Given the description of an element on the screen output the (x, y) to click on. 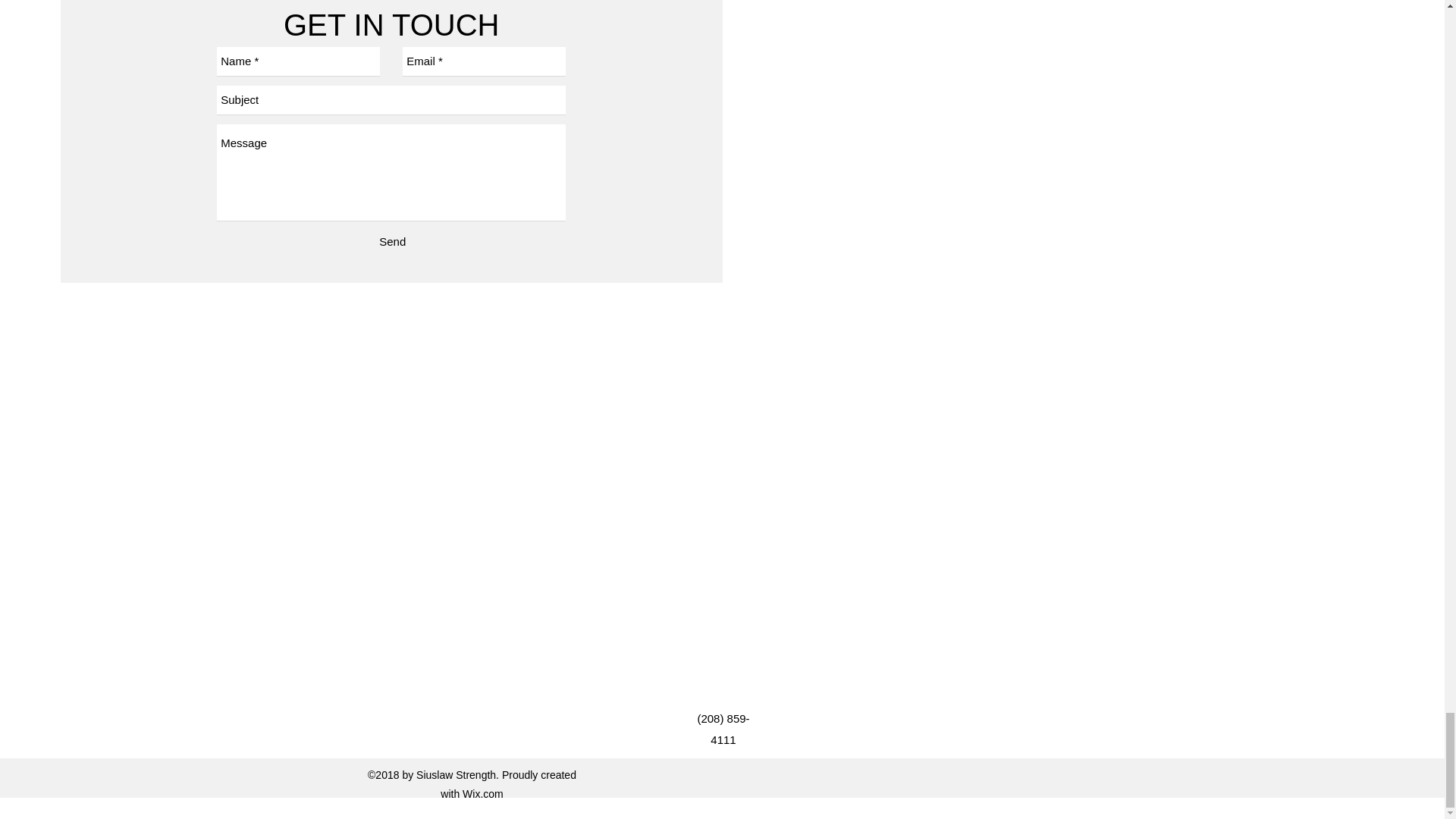
Send (392, 241)
